Given the description of an element on the screen output the (x, y) to click on. 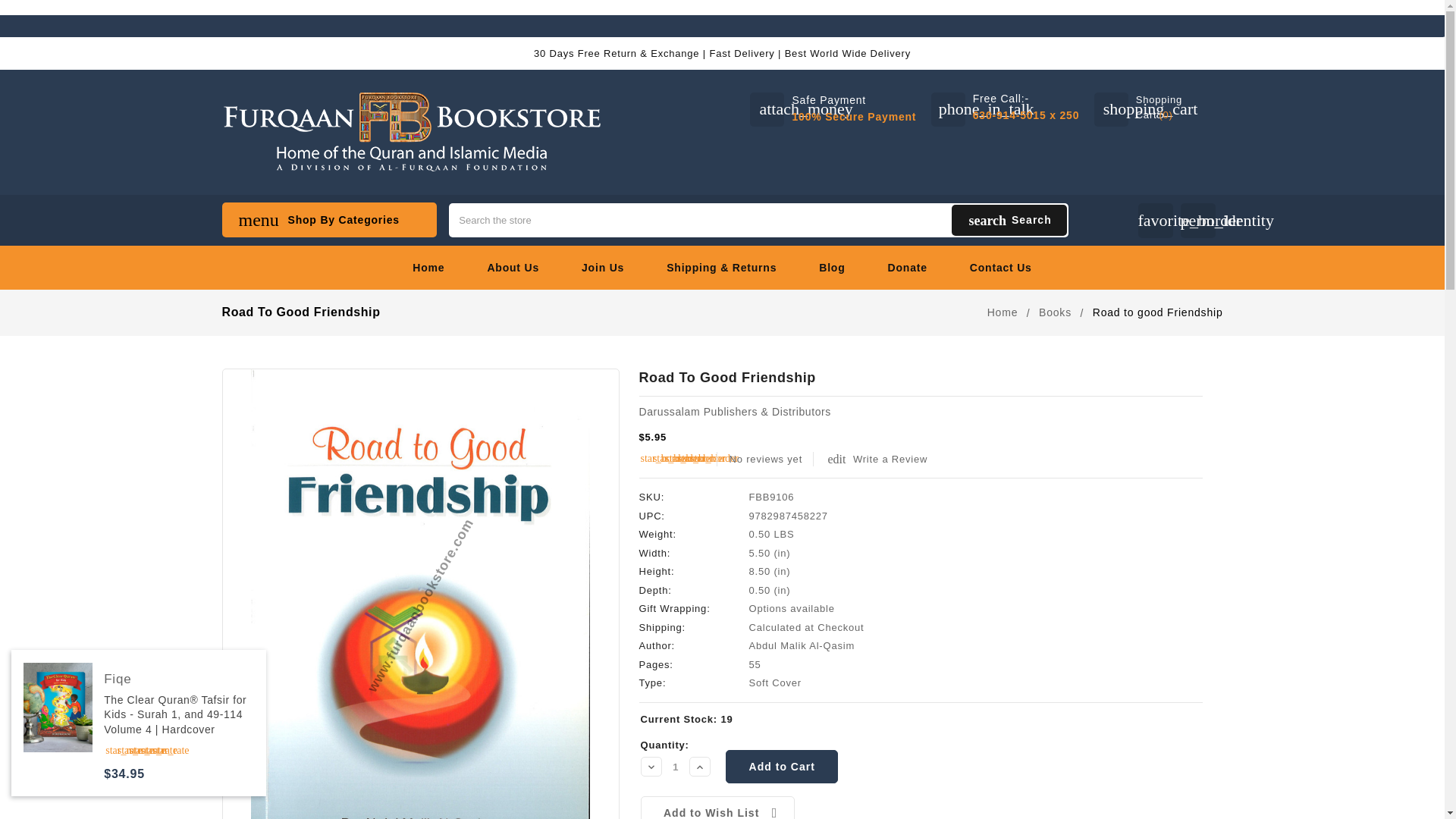
Submit Search (1008, 219)
Add to Cart (781, 766)
My Account (1196, 220)
Wish Lists (1154, 220)
1 (675, 767)
Shopping Cart (1158, 109)
Home of the Qur'an and Other Islamic Media (410, 131)
630-914-5015 x 250 (1026, 114)
